Given the description of an element on the screen output the (x, y) to click on. 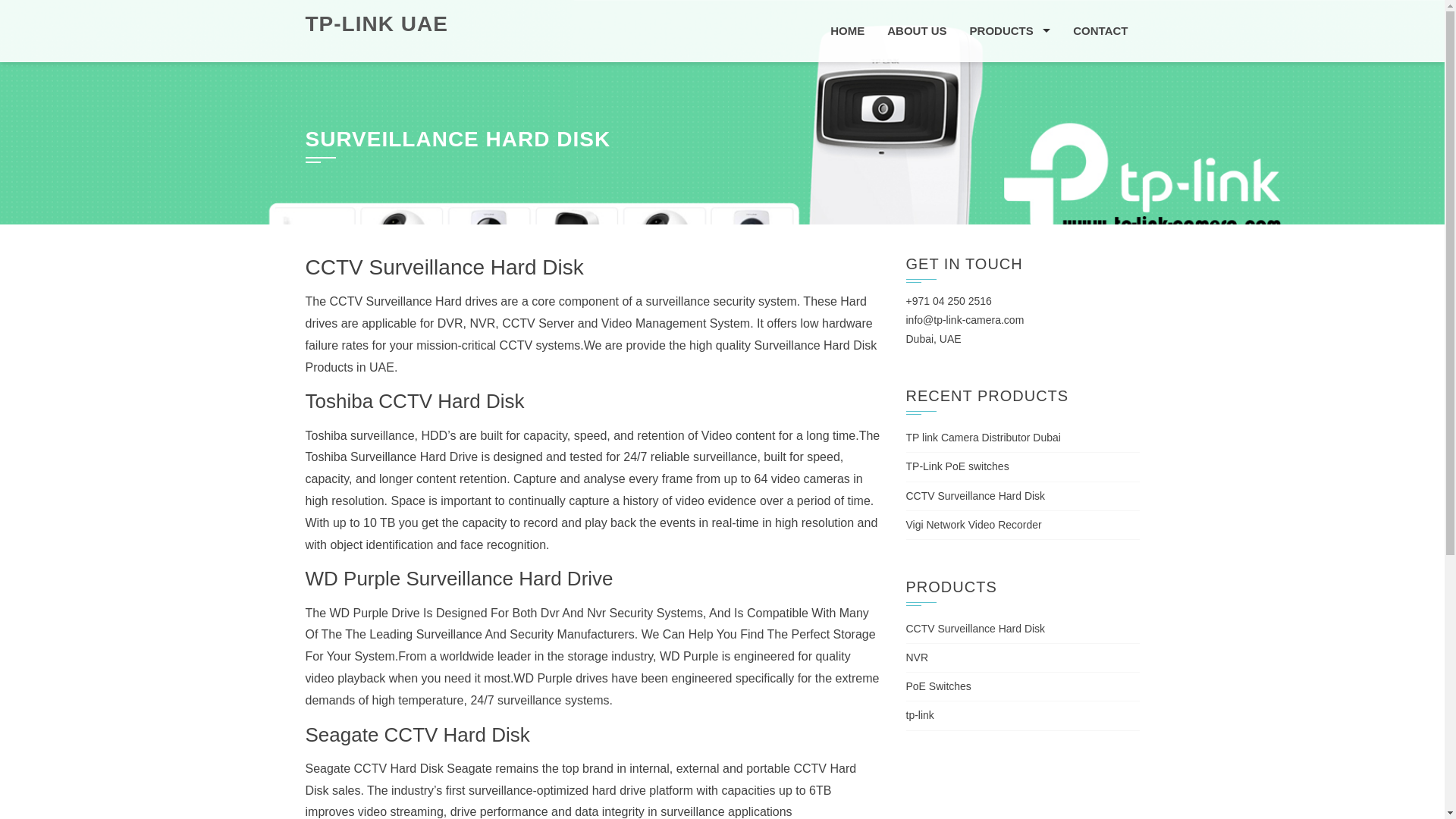
CCTV Surveillance Hard Disk (975, 495)
Vigi Network Video Recorder (973, 524)
PRODUCTS (1010, 31)
TP-Link PoE switches (957, 466)
HOME (847, 31)
CONTACT (1099, 31)
TP link Camera Distributor Dubai (982, 437)
ABOUT US (917, 31)
tp-link (919, 715)
PoE Switches (938, 686)
CCTV Surveillance Hard Disk (975, 628)
TP-LINK UAE (375, 24)
NVR (916, 657)
